Given the description of an element on the screen output the (x, y) to click on. 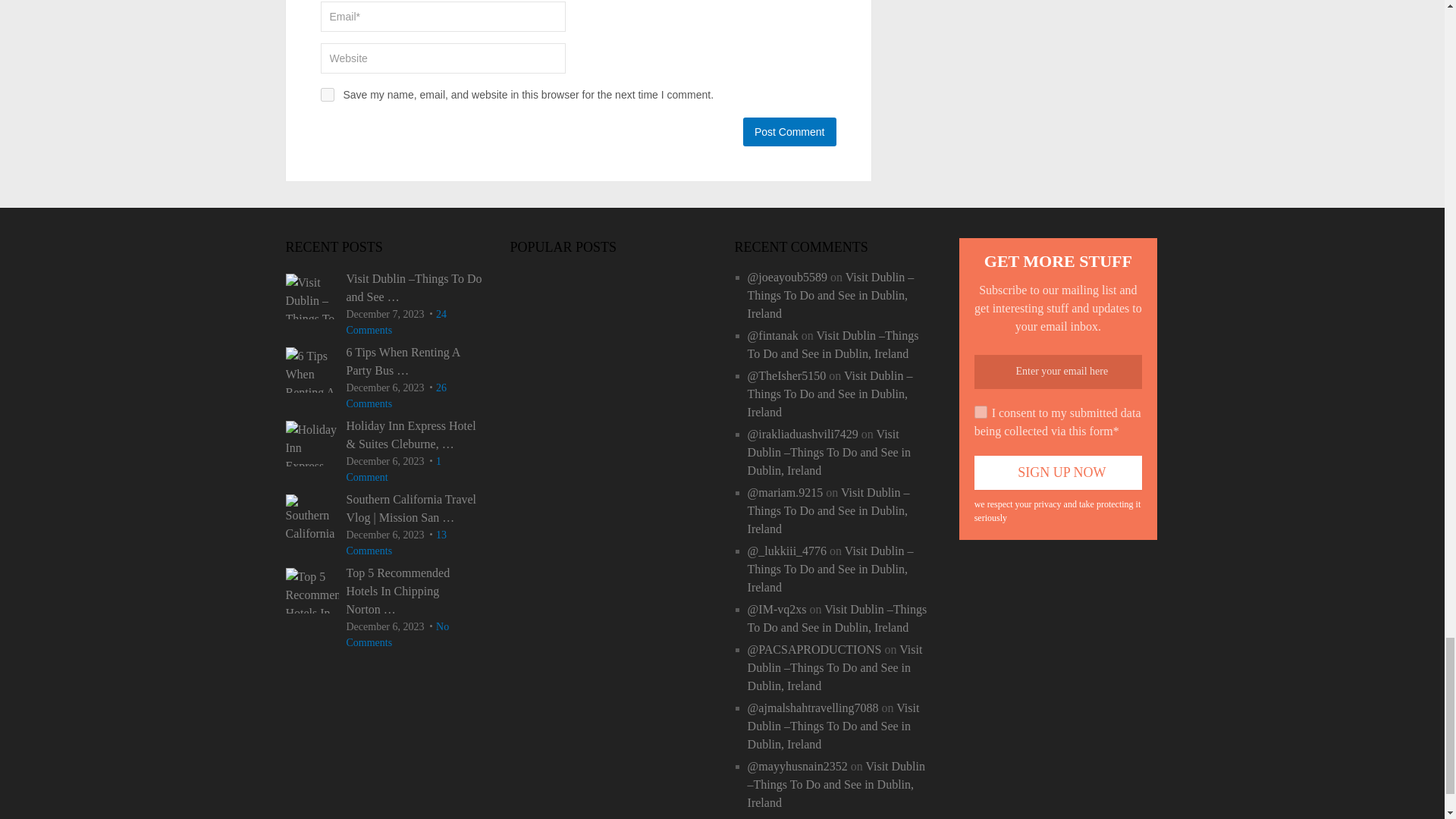
yes (326, 94)
Post Comment (788, 131)
Sign Up Now (1058, 472)
on (980, 411)
